Given the description of an element on the screen output the (x, y) to click on. 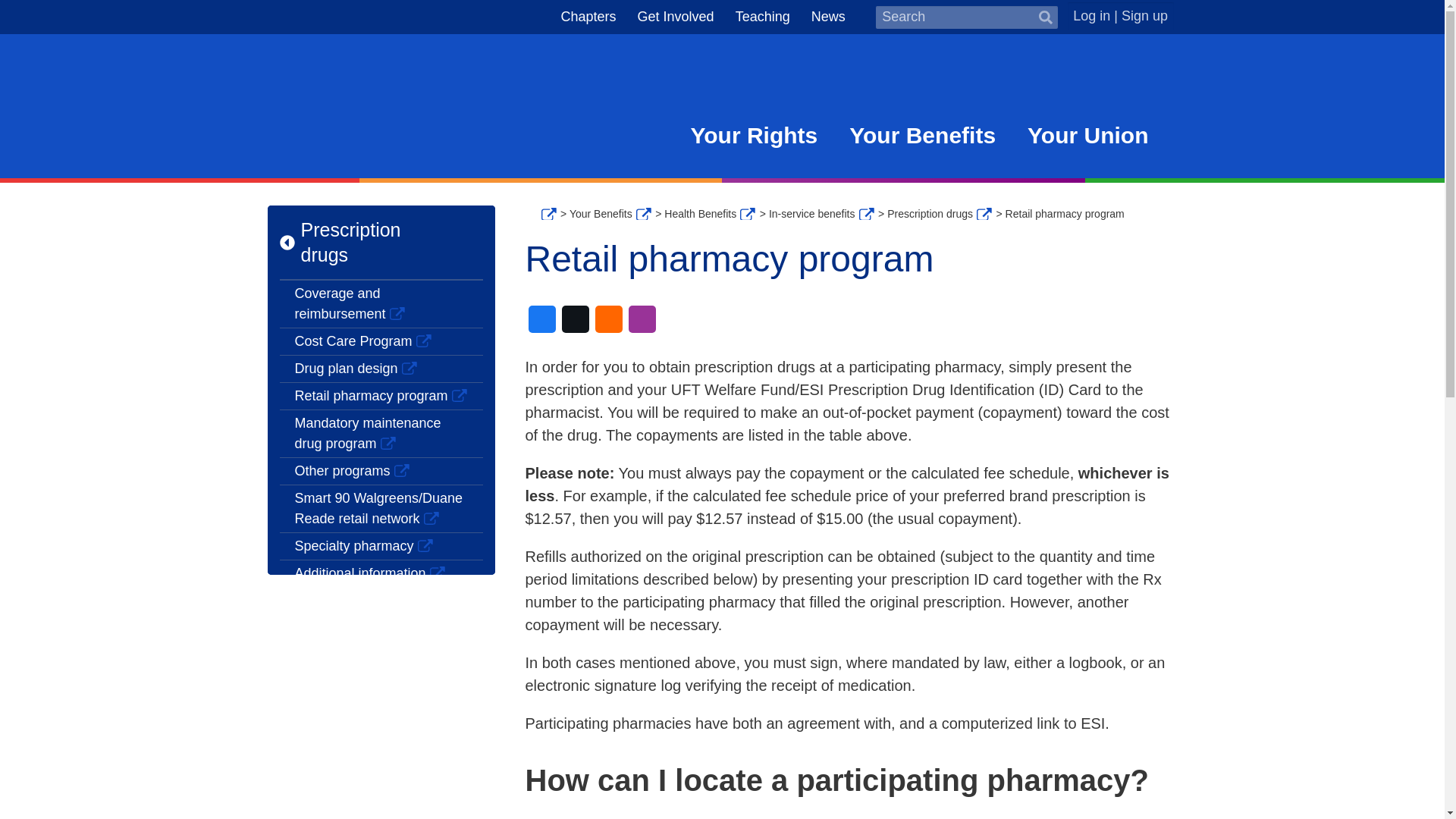
Search (1044, 17)
Chapters (587, 16)
Share to Facebook (540, 318)
Share to Email (607, 318)
Share to X (574, 318)
